Given the description of an element on the screen output the (x, y) to click on. 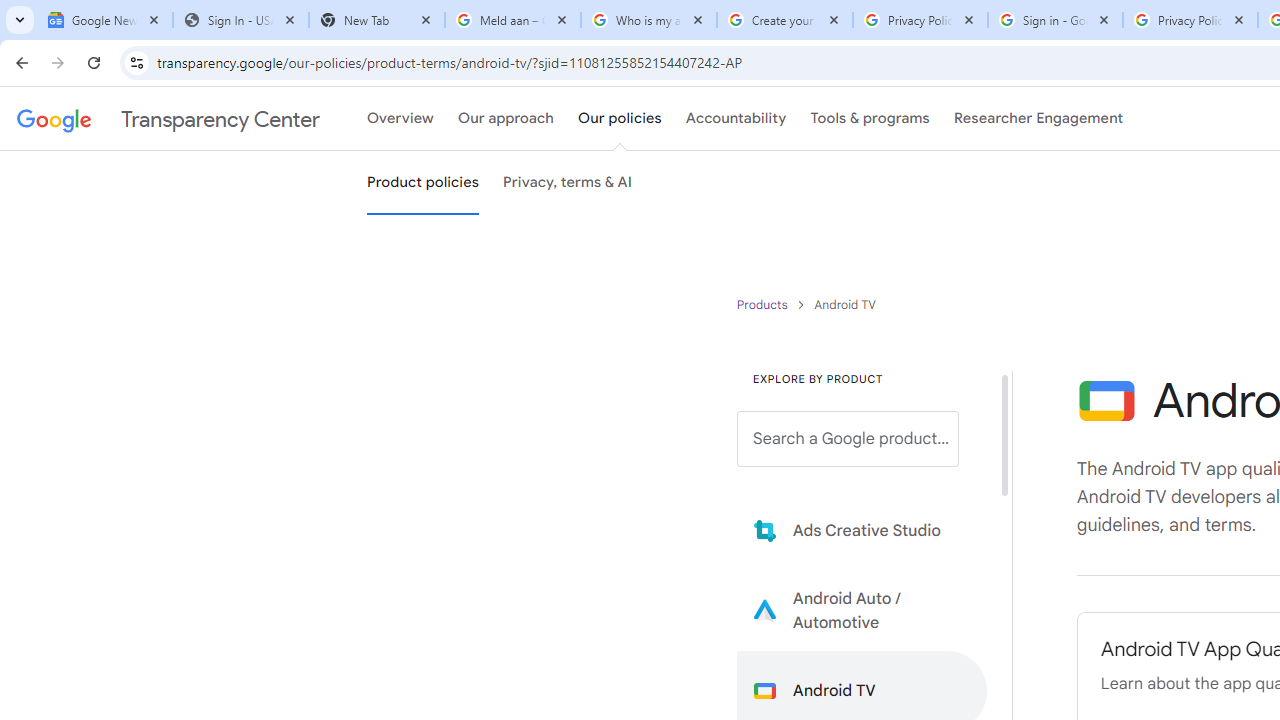
Product policies (763, 304)
